Given the description of an element on the screen output the (x, y) to click on. 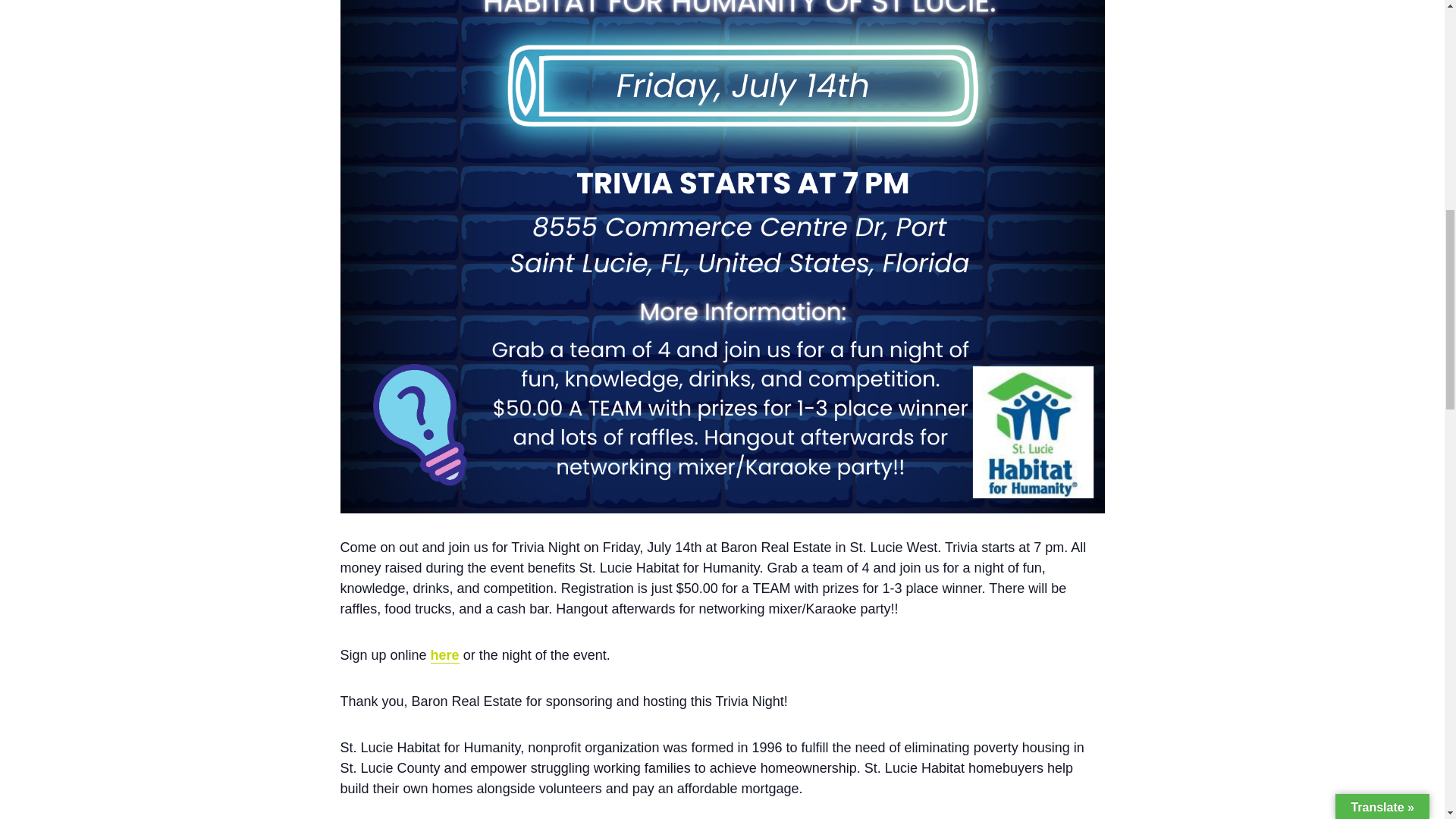
here (445, 655)
